Given the description of an element on the screen output the (x, y) to click on. 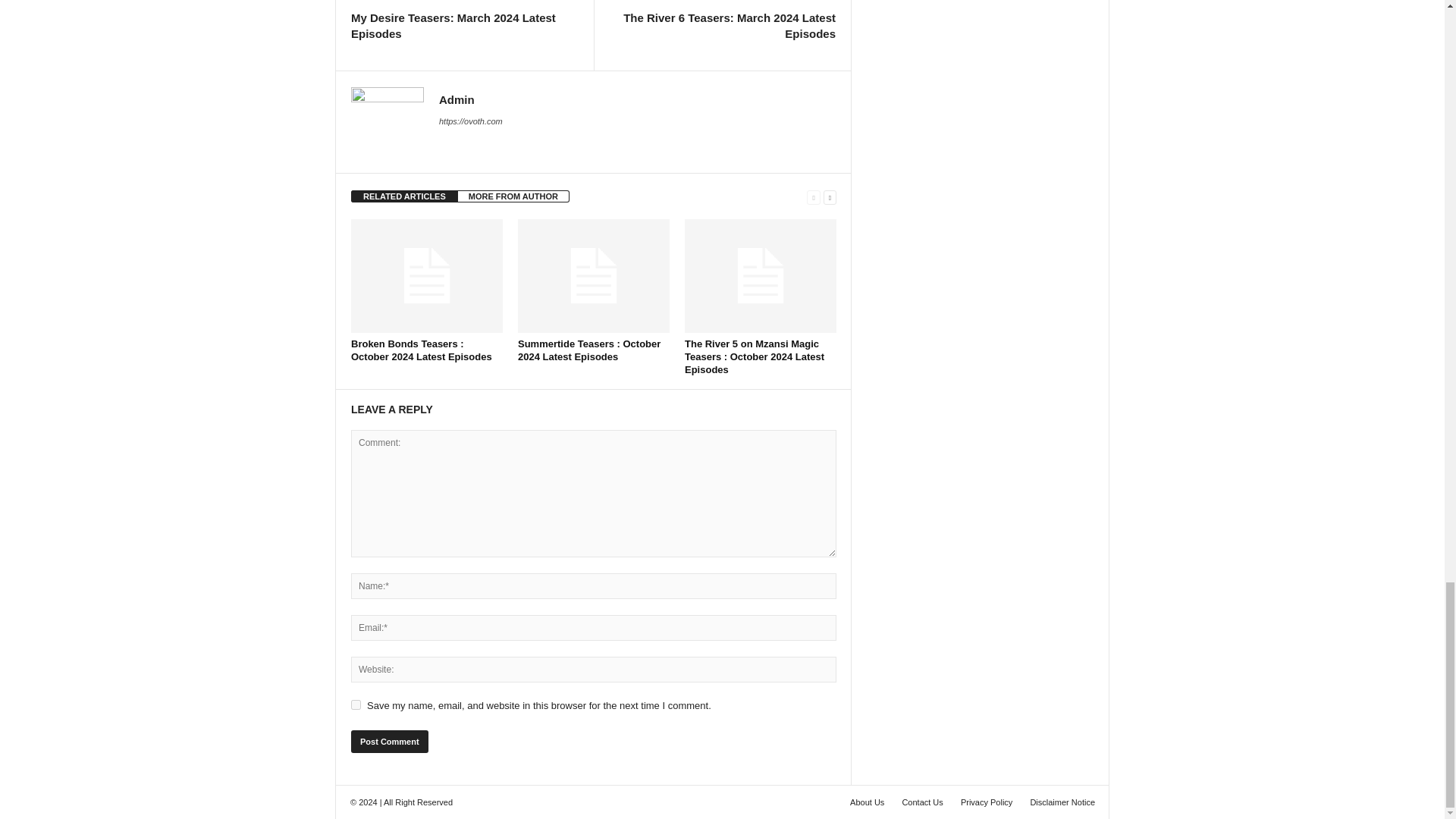
yes (355, 705)
Contact Us (921, 801)
Broken Bonds Teasers : October 2024 Latest Episodes (421, 350)
About Us (867, 801)
Summertide Teasers : October 2024 Latest Episodes (593, 275)
Broken Bonds Teasers : October 2024 Latest Episodes (421, 350)
Post Comment (389, 741)
Post Comment (389, 741)
Admin (456, 99)
